Given the description of an element on the screen output the (x, y) to click on. 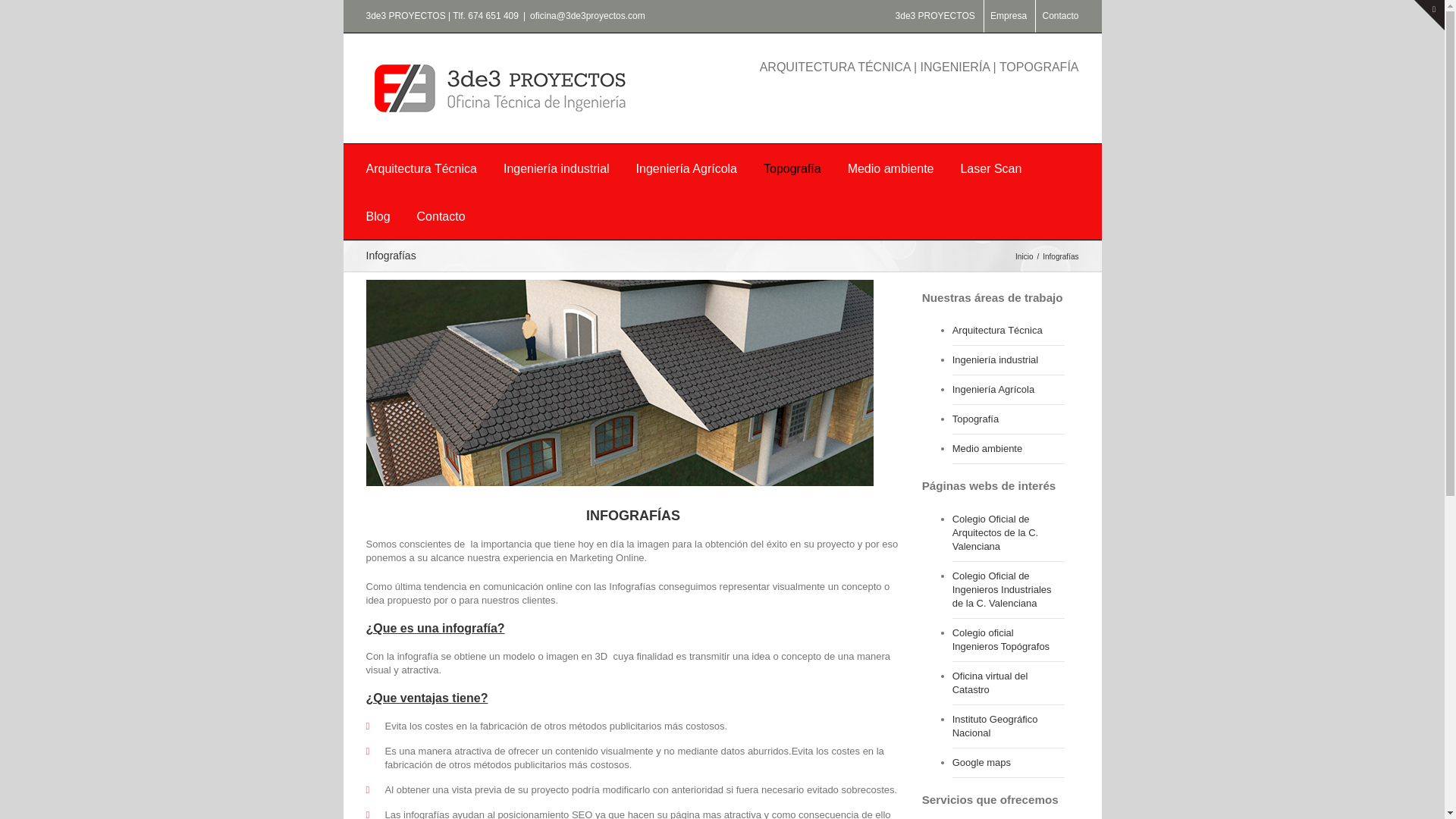
Medio ambiente Element type: text (1008, 449)
Inicio Element type: text (1025, 255)
Laser Scan Element type: text (990, 167)
Contacto Element type: text (441, 215)
3de3 PROYECTOS Element type: text (935, 15)
Oficina virtual del Catastro Element type: text (1008, 683)
Medio ambiente Element type: text (890, 167)
Contacto Element type: text (1059, 15)
Google maps Element type: text (1008, 763)
Blog Element type: text (377, 215)
oficina@3de3proyectos.com Element type: text (587, 15)
Empresa Element type: text (1008, 15)
Colegio Oficial de Arquitectos de la C. Valenciana Element type: text (1008, 533)
